Given the description of an element on the screen output the (x, y) to click on. 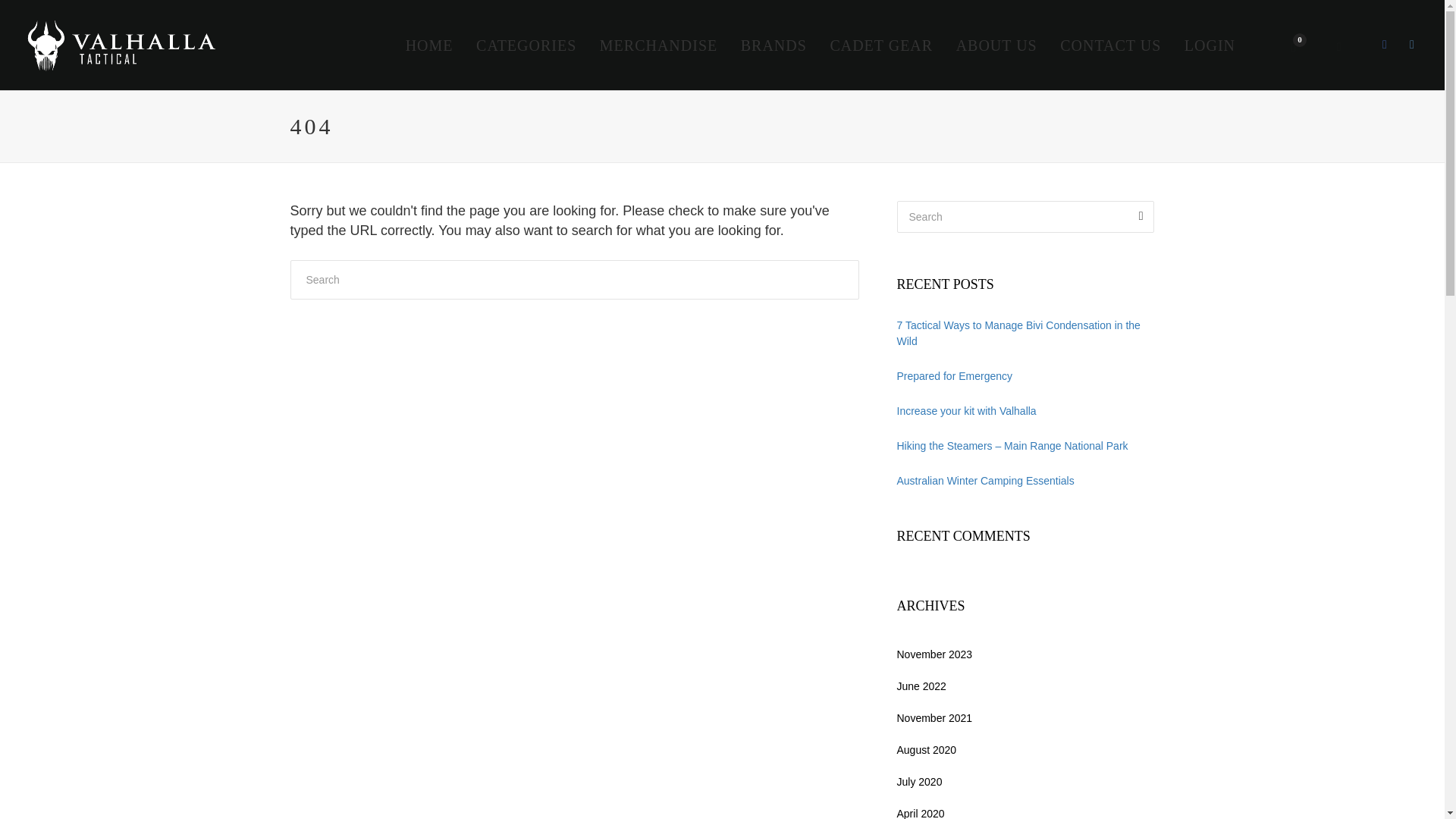
CATEGORIES (526, 45)
View your shopping cart (1294, 45)
0 (1294, 45)
BRANDS (773, 45)
MERCHANDISE (658, 45)
